Given the description of an element on the screen output the (x, y) to click on. 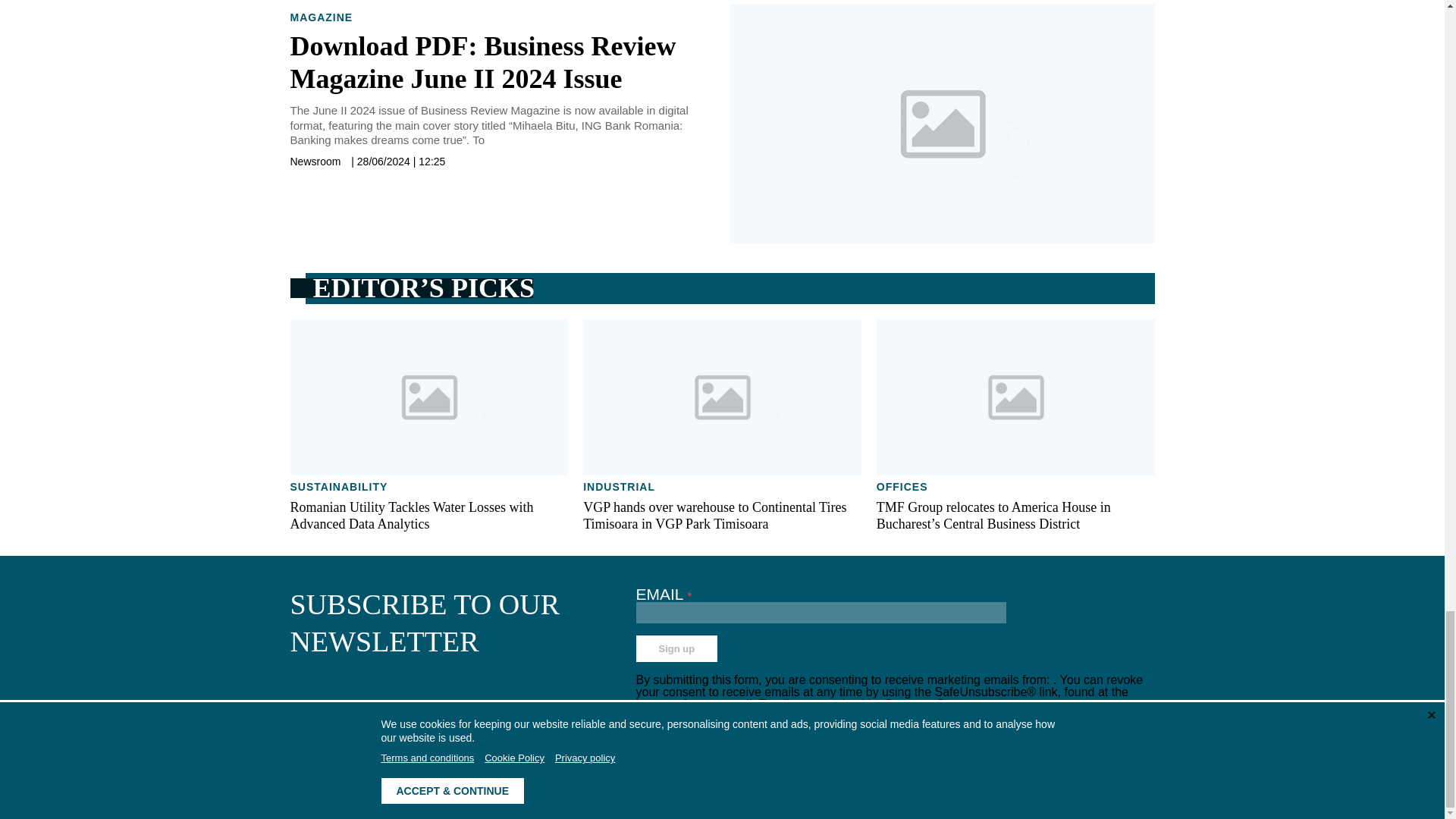
required (690, 595)
Sign up (675, 648)
